Given the description of an element on the screen output the (x, y) to click on. 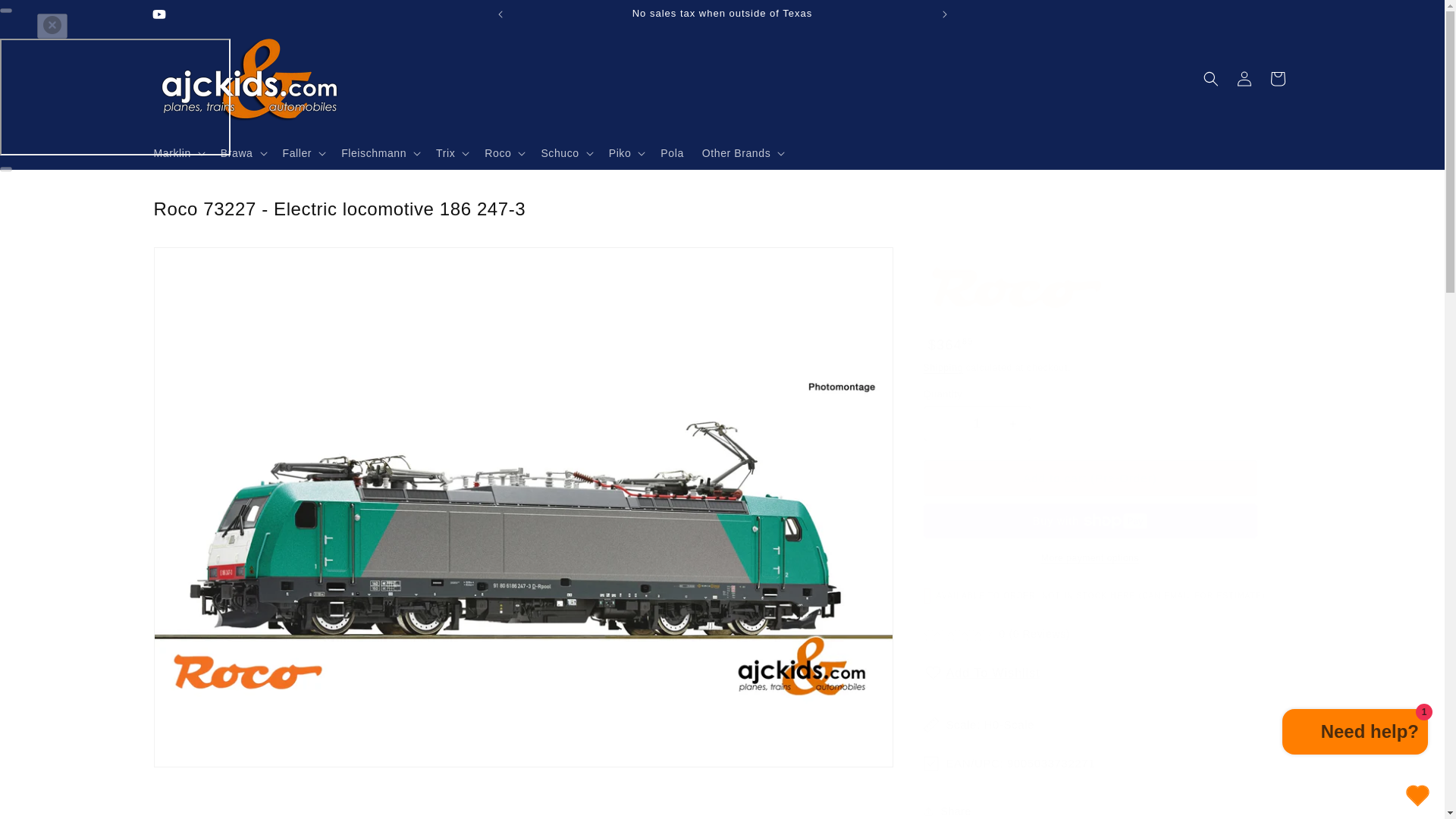
Wishlist (1416, 795)
YouTube (158, 14)
Skip to content (45, 17)
Shopify online store chat (1355, 733)
1 (976, 423)
Order your Museum Cars for 2024 (1157, 14)
Roco (1015, 288)
